Given the description of an element on the screen output the (x, y) to click on. 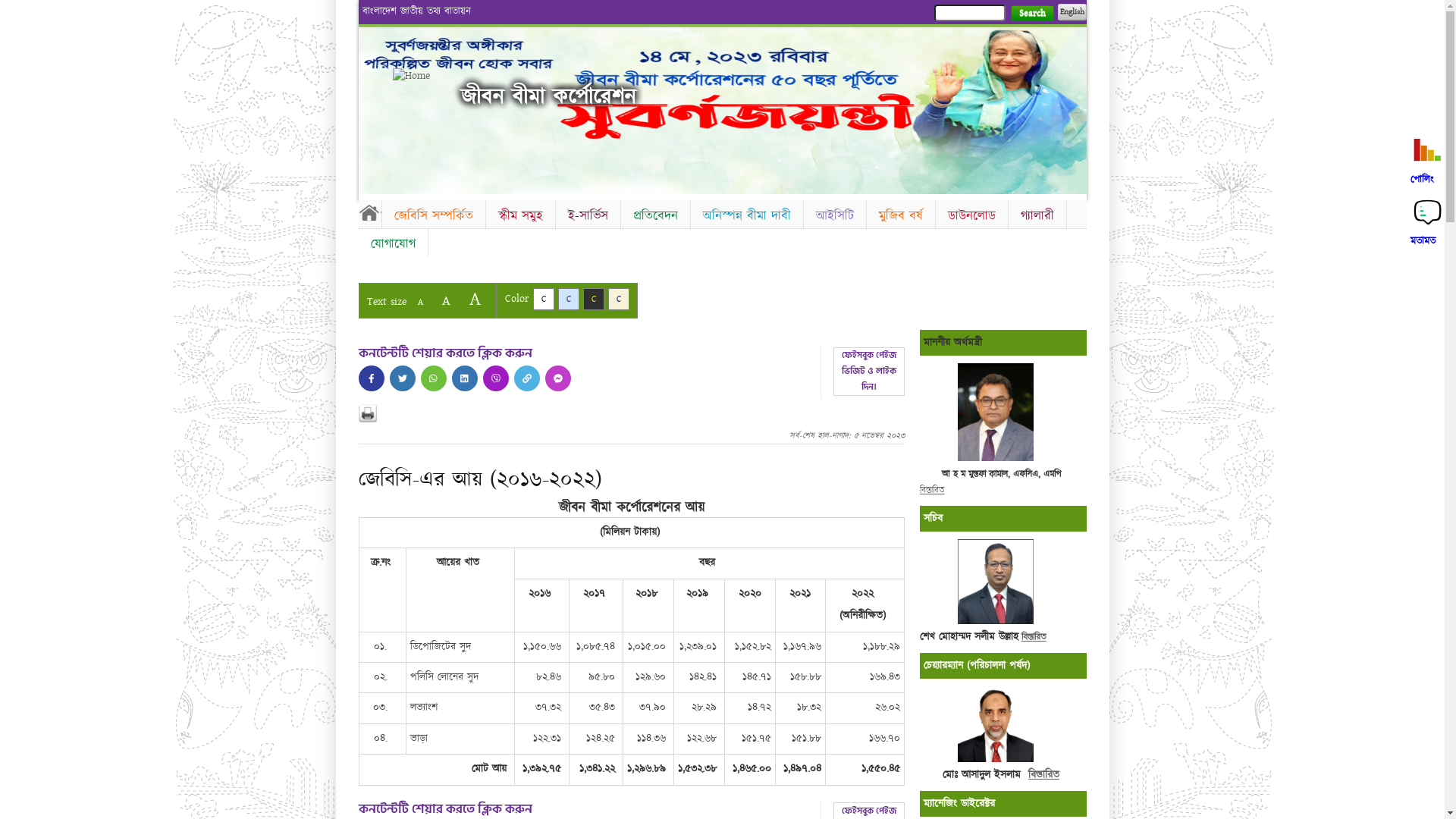
English Element type: text (1071, 11)
C Element type: text (542, 299)
A Element type: text (419, 301)
C Element type: text (568, 299)
A Element type: text (474, 298)
C Element type: text (618, 299)
Home Element type: hover (418, 76)
C Element type: text (592, 299)
A Element type: text (445, 300)
Search Element type: text (1031, 13)
Home Element type: hover (368, 211)
